Given the description of an element on the screen output the (x, y) to click on. 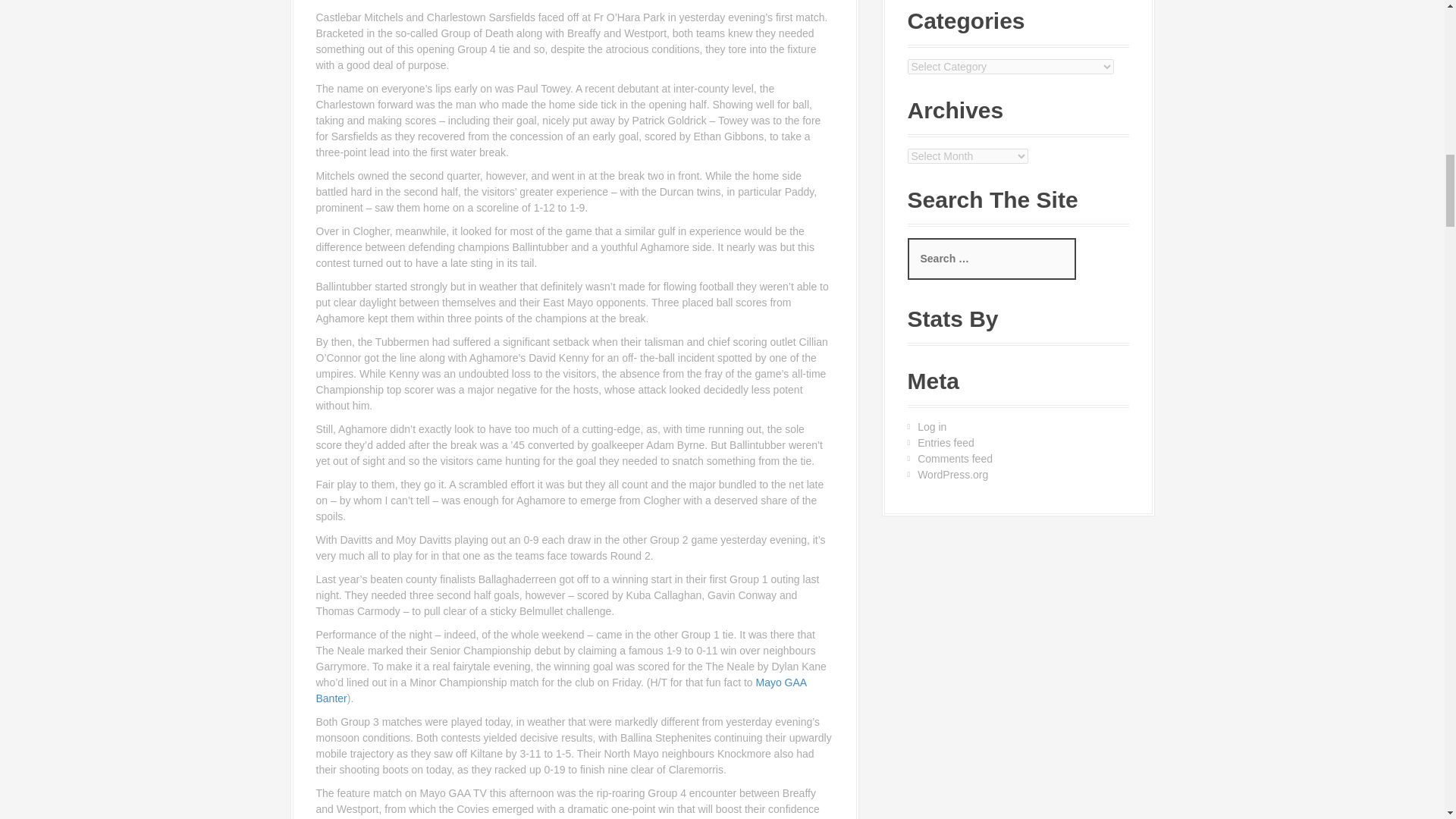
Search for: (991, 259)
Mayo GAA Banter (560, 690)
